Given the description of an element on the screen output the (x, y) to click on. 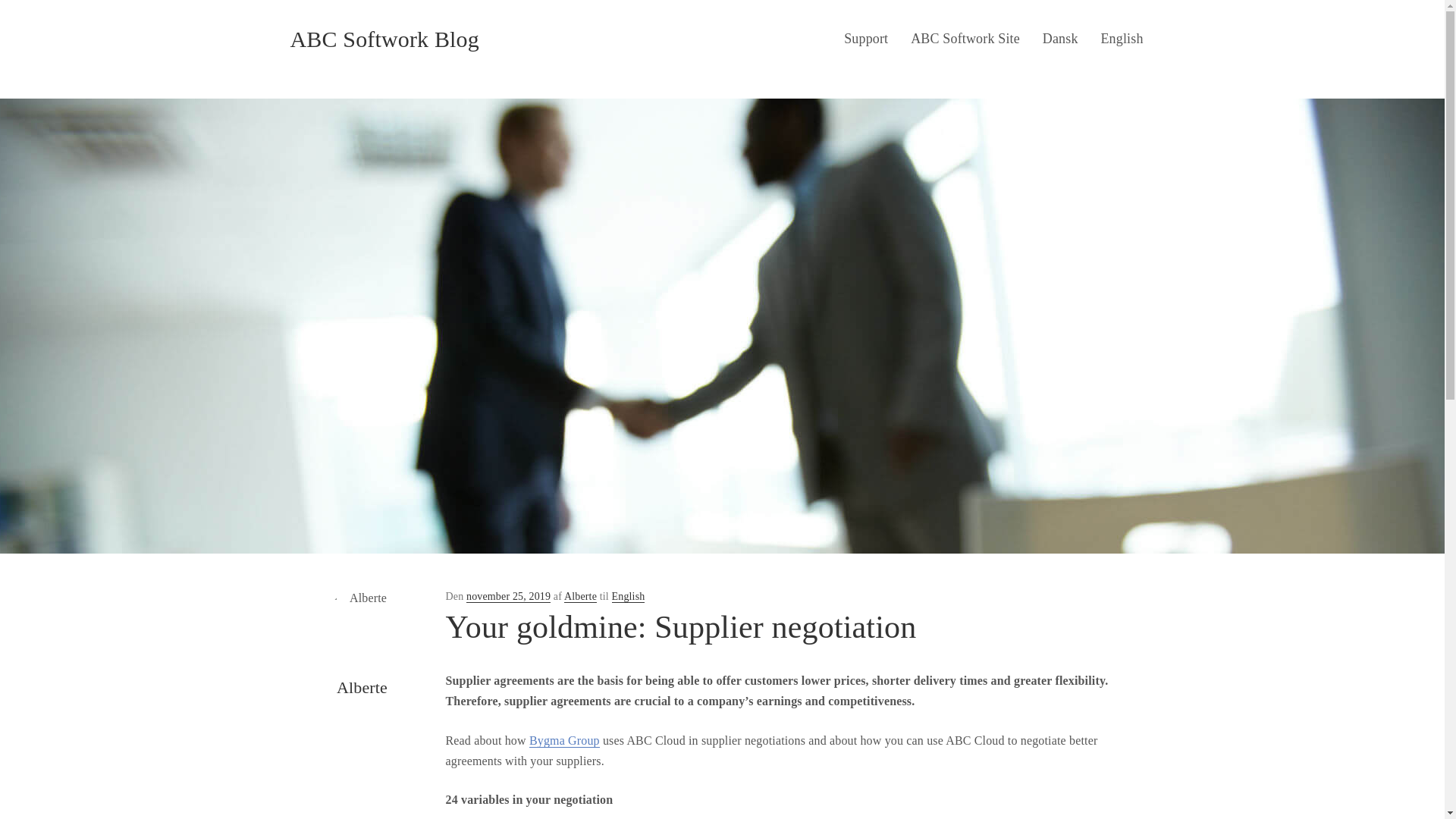
Bygma Group (564, 740)
Alberte (580, 596)
Dansk (1059, 38)
ABC Softwork Blog (384, 38)
English (628, 596)
Support (865, 38)
ABC Softwork Blog (384, 38)
English (1121, 38)
ABC Softwork Site (964, 38)
november 25, 2019 (507, 596)
